Given the description of an element on the screen output the (x, y) to click on. 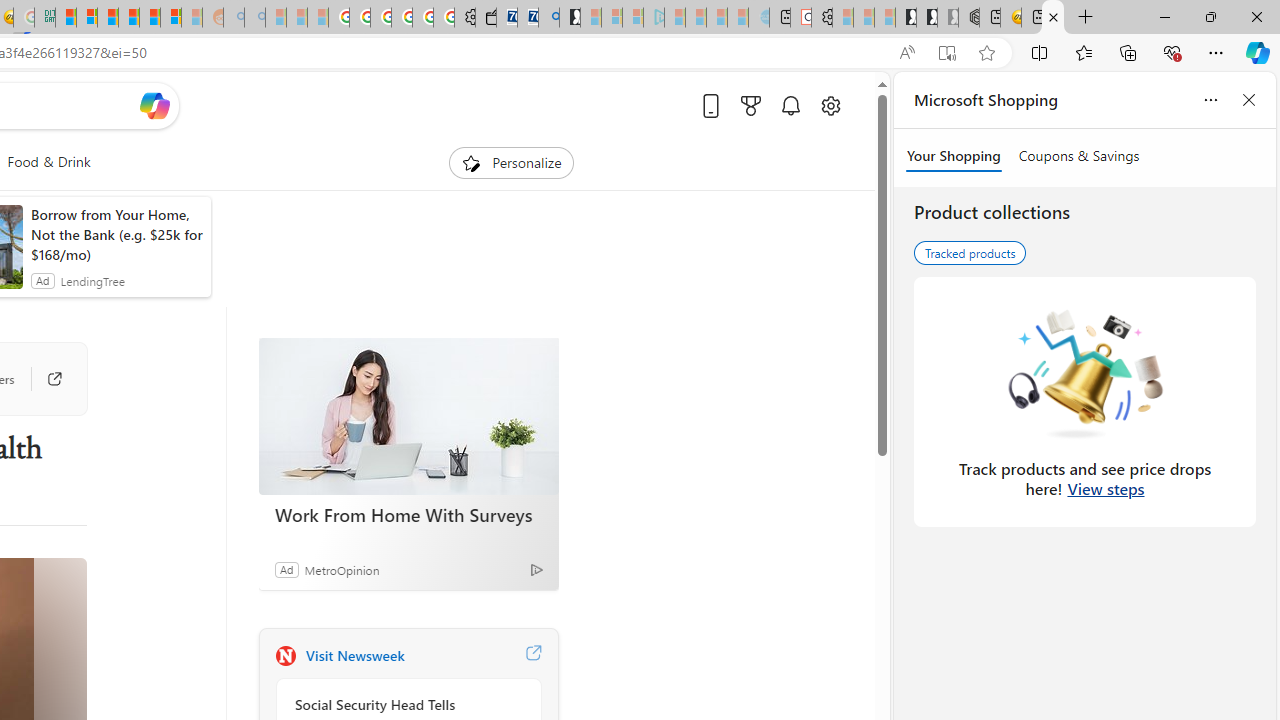
Utah sues federal government - Search - Sleeping (254, 17)
Microsoft account | Privacy (86, 17)
Enter Immersive Reader (F9) (946, 53)
Open Copilot (155, 105)
Go to publisher's site (44, 378)
Newsweek (285, 655)
Collections (1128, 52)
LendingTree (92, 280)
Notifications (790, 105)
Microsoft rewards (749, 105)
